Given the description of an element on the screen output the (x, y) to click on. 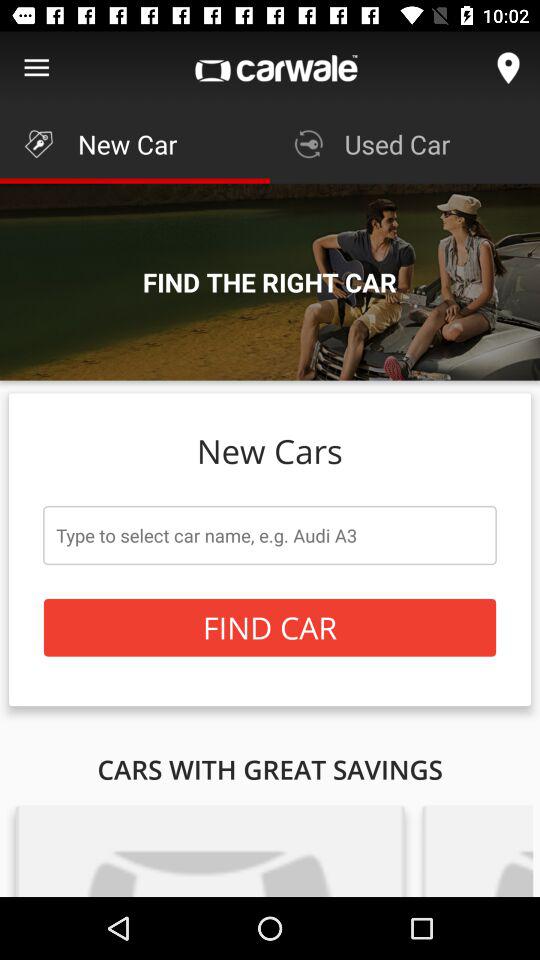
enter car make and model (269, 535)
